Given the description of an element on the screen output the (x, y) to click on. 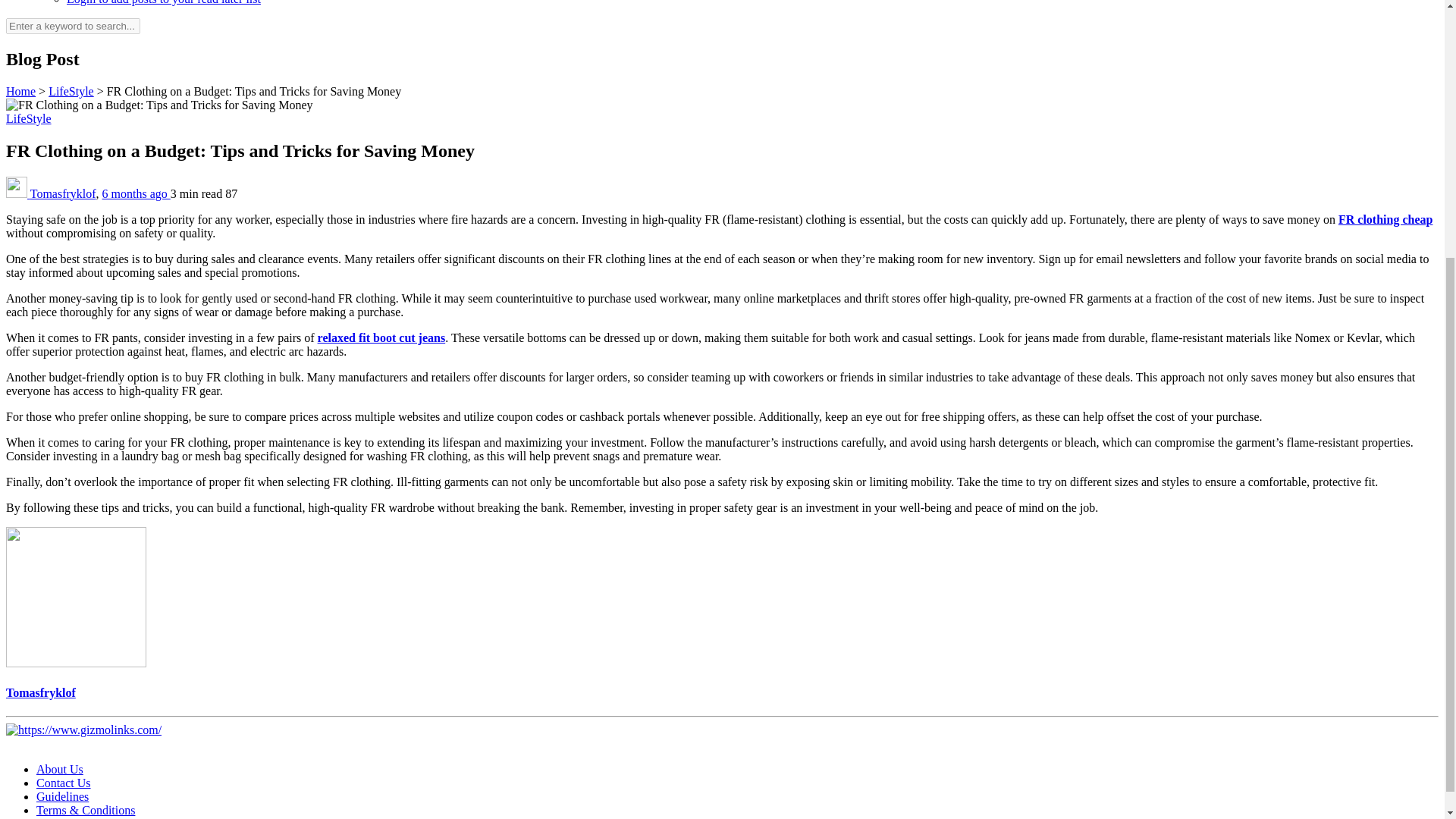
relaxed fit boot cut jeans (381, 337)
LifeStyle (27, 118)
Home (19, 91)
About Us (59, 768)
Home (19, 91)
FR Clothing on a Budget: Tips and Tricks for Saving Money (253, 91)
6 months ago (135, 193)
Guidelines (62, 796)
Tomasfryklof (63, 193)
LifeStyle (71, 91)
